Given the description of an element on the screen output the (x, y) to click on. 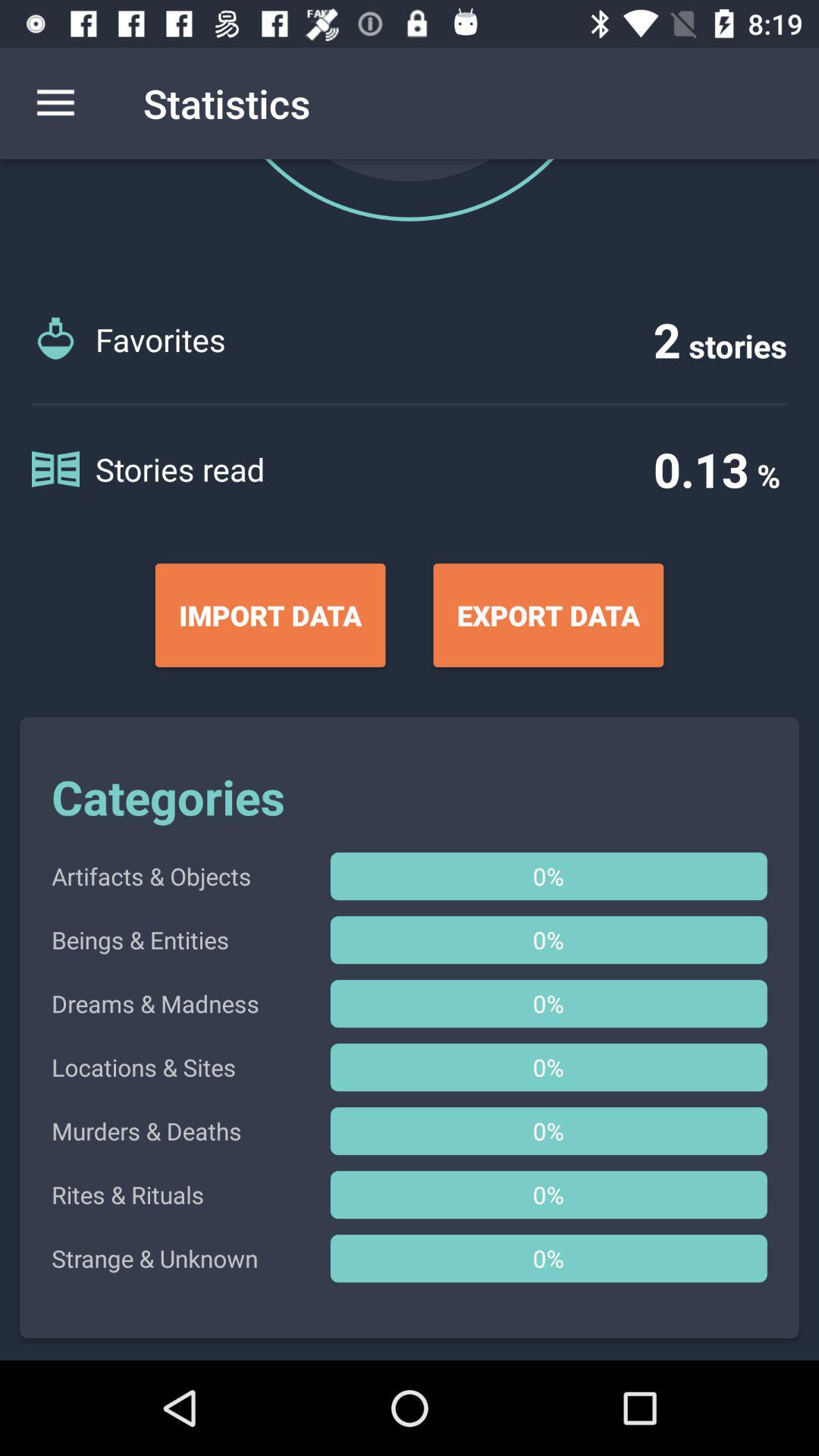
tap the icon to the right of import data icon (548, 615)
